Given the description of an element on the screen output the (x, y) to click on. 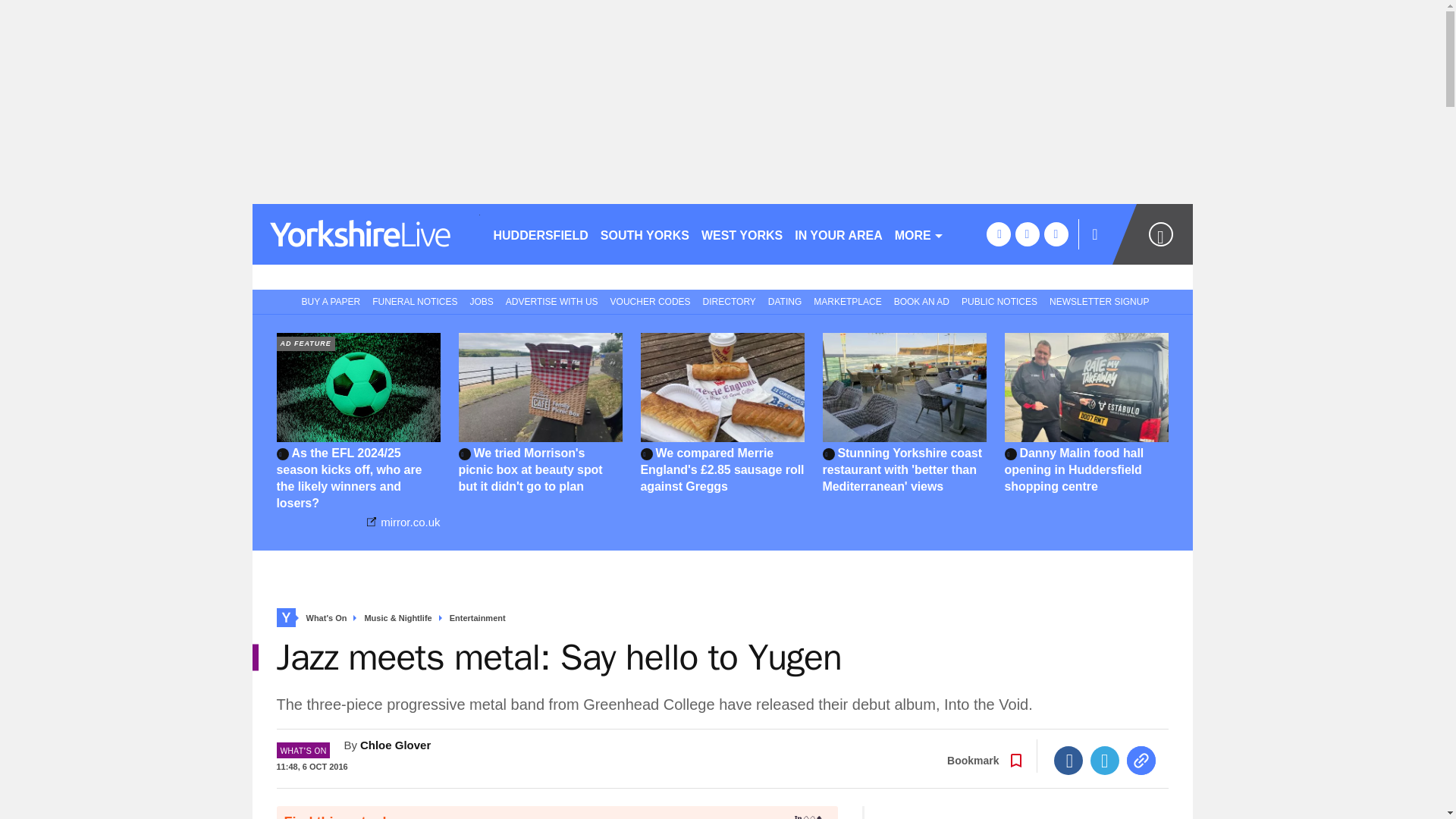
Twitter (1104, 760)
instagram (1055, 233)
WEST YORKS (742, 233)
SOUTH YORKS (644, 233)
HUDDERSFIELD (540, 233)
IN YOUR AREA (838, 233)
MORE (919, 233)
facebook (997, 233)
huddersfieldexaminer (365, 233)
twitter (1026, 233)
